Given the description of an element on the screen output the (x, y) to click on. 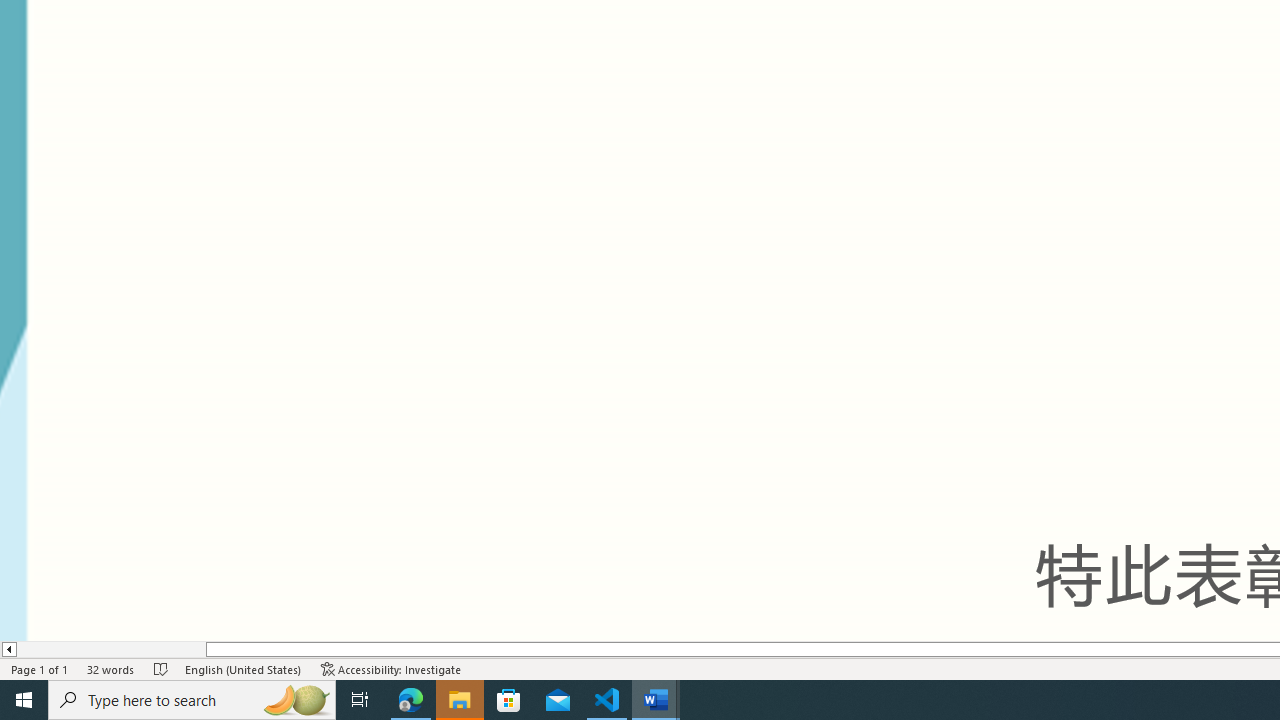
Spelling and Grammar Check No Errors (161, 668)
Word Count 32 words (111, 668)
Page left (111, 649)
Column left (8, 649)
Language English (United States) (243, 668)
Page Number Page 1 of 1 (39, 668)
Accessibility Checker Accessibility: Investigate (391, 668)
